Given the description of an element on the screen output the (x, y) to click on. 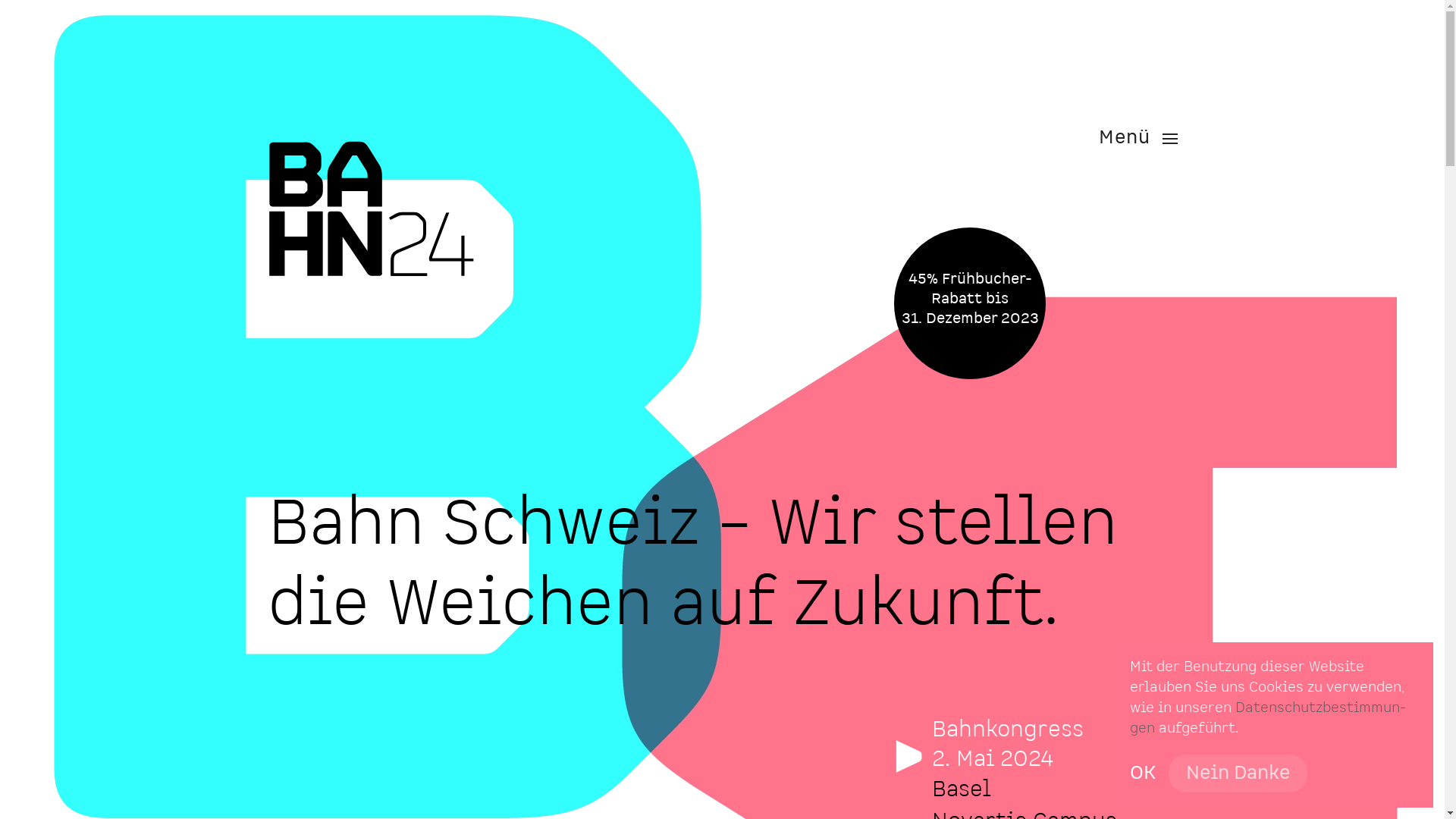
Nein Danke Element type: text (1237, 773)
OK Element type: text (1142, 772)
